Given the description of an element on the screen output the (x, y) to click on. 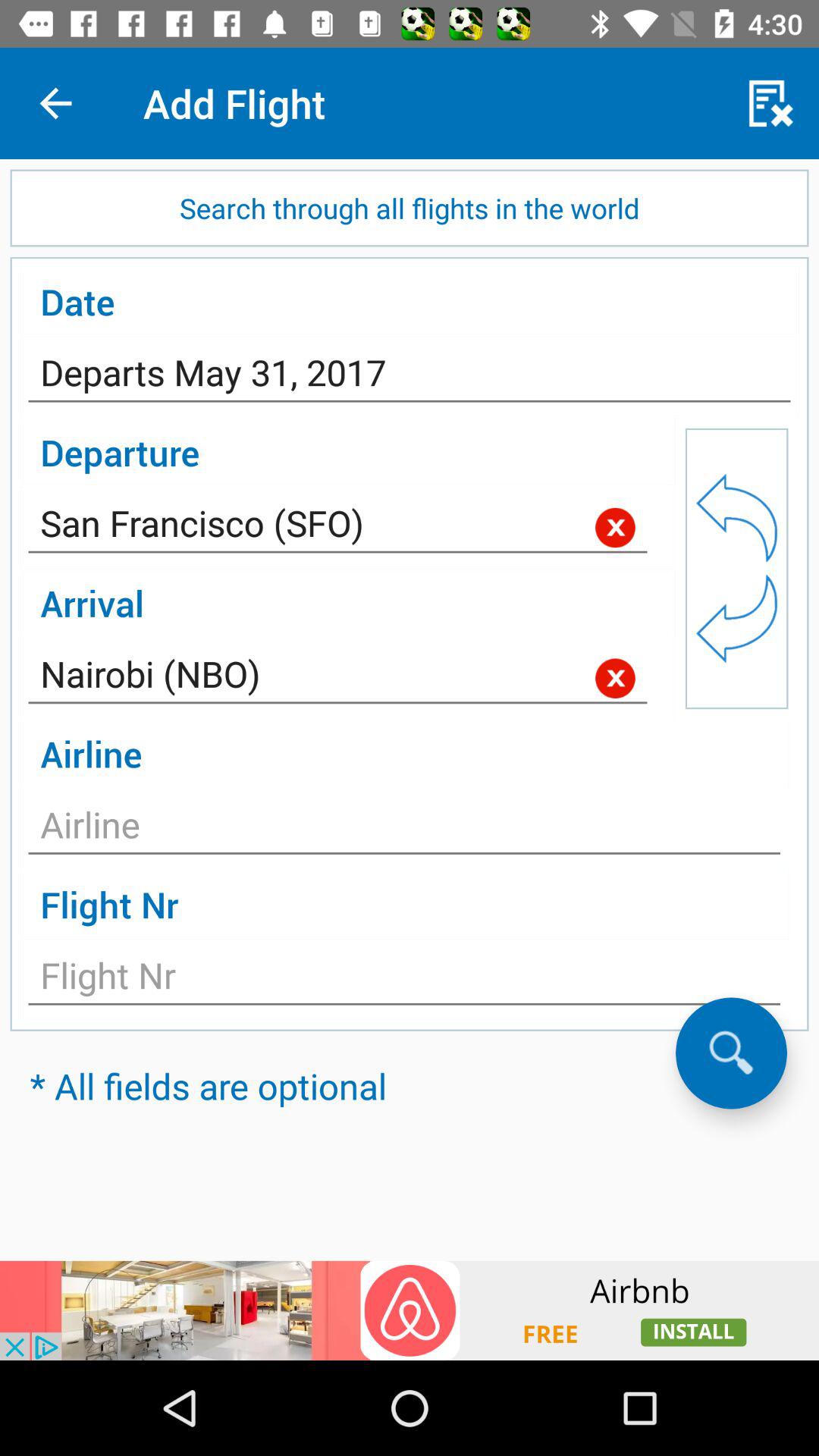
search the site (731, 1053)
